Given the description of an element on the screen output the (x, y) to click on. 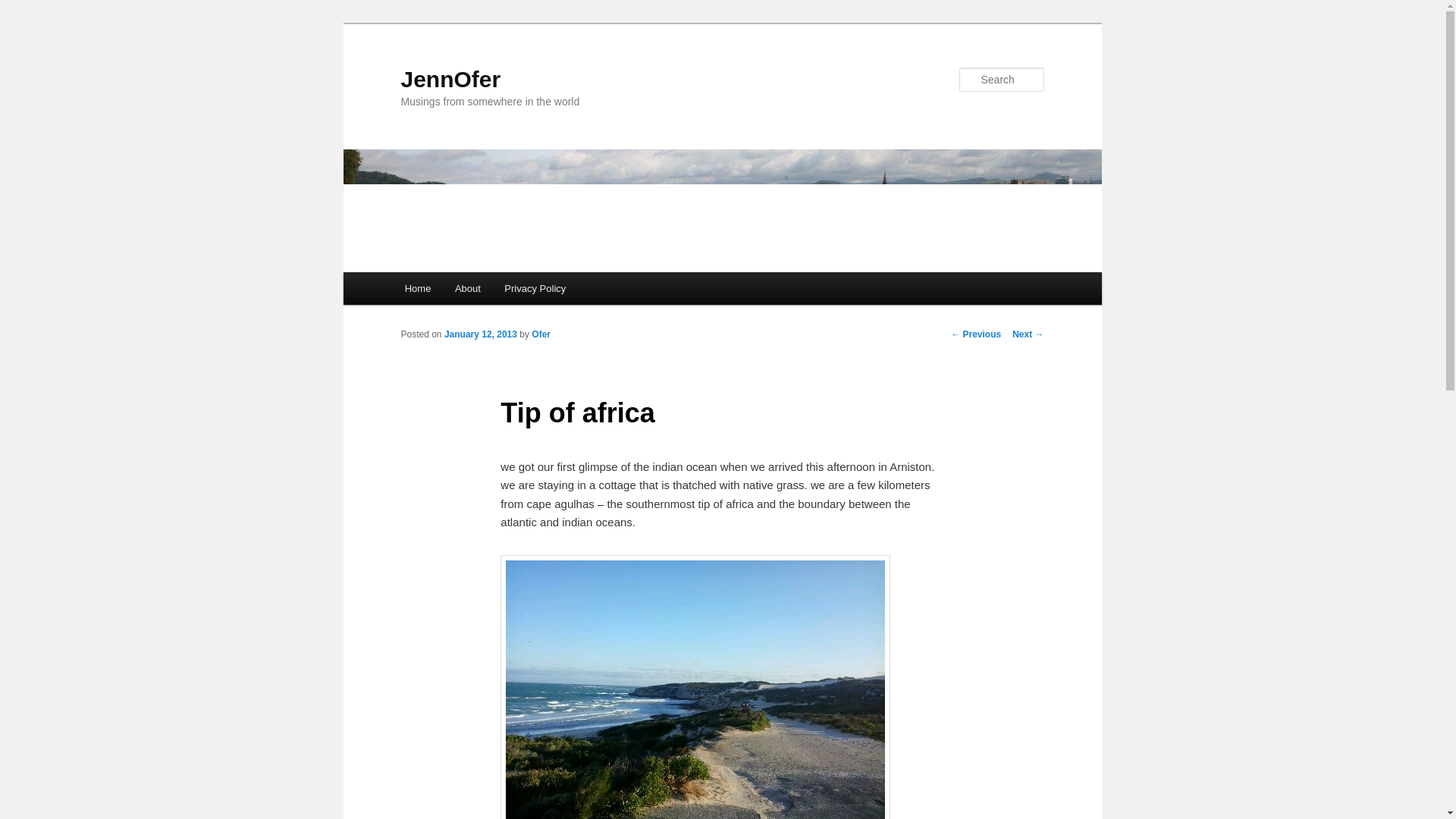
January 12, 2013 (480, 334)
Home (417, 287)
6:59 pm (480, 334)
2013-01-12 19.08.01.jpg (694, 687)
Search (24, 8)
View all posts by Ofer (540, 334)
JennOfer (450, 78)
About (467, 287)
Privacy Policy (535, 287)
